Given the description of an element on the screen output the (x, y) to click on. 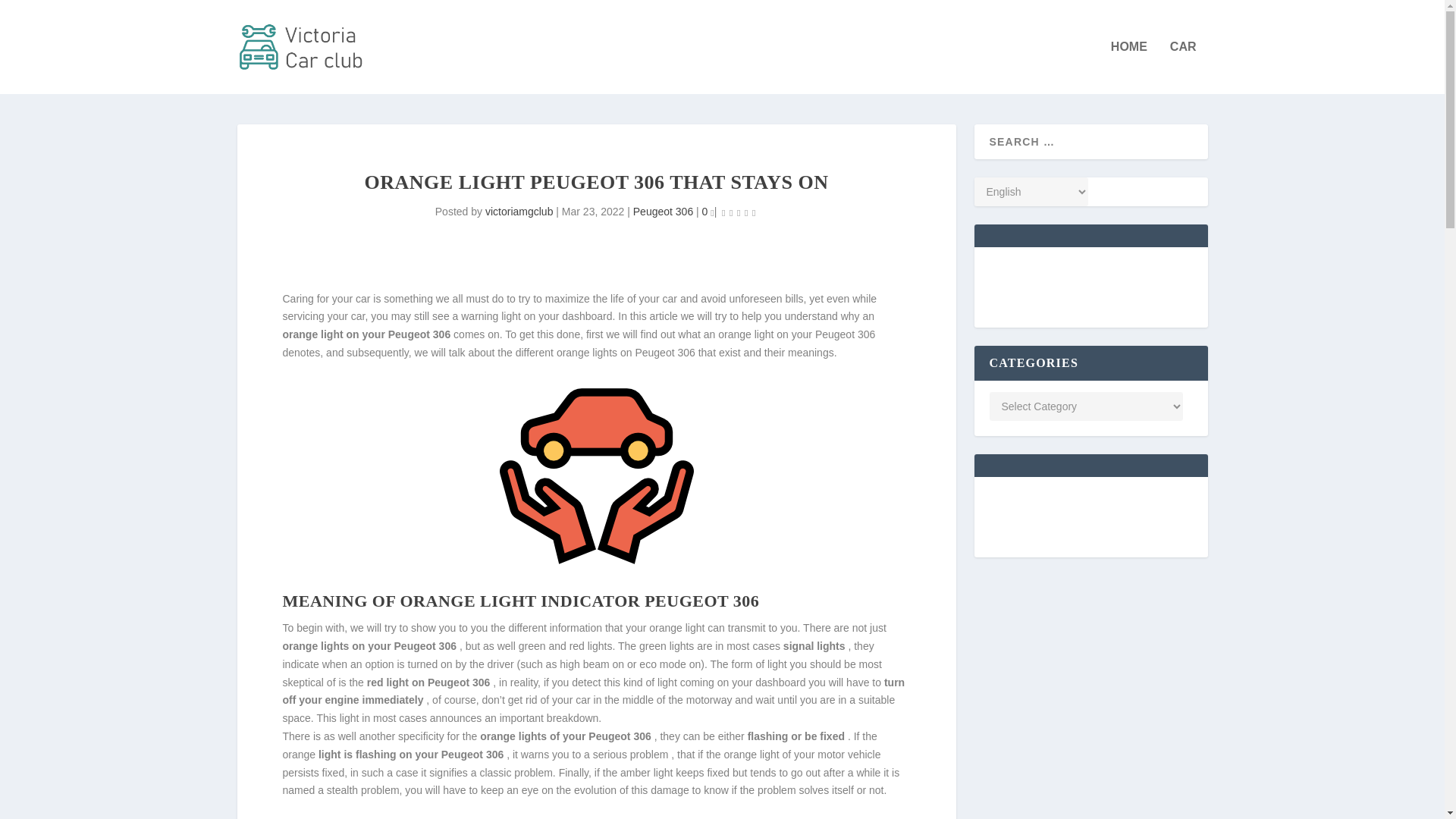
Rating: 0.00 (738, 212)
Peugeot 306 (663, 211)
0 (707, 211)
Posts by victoriamgclub (518, 211)
victoriamgclub (518, 211)
